Given the description of an element on the screen output the (x, y) to click on. 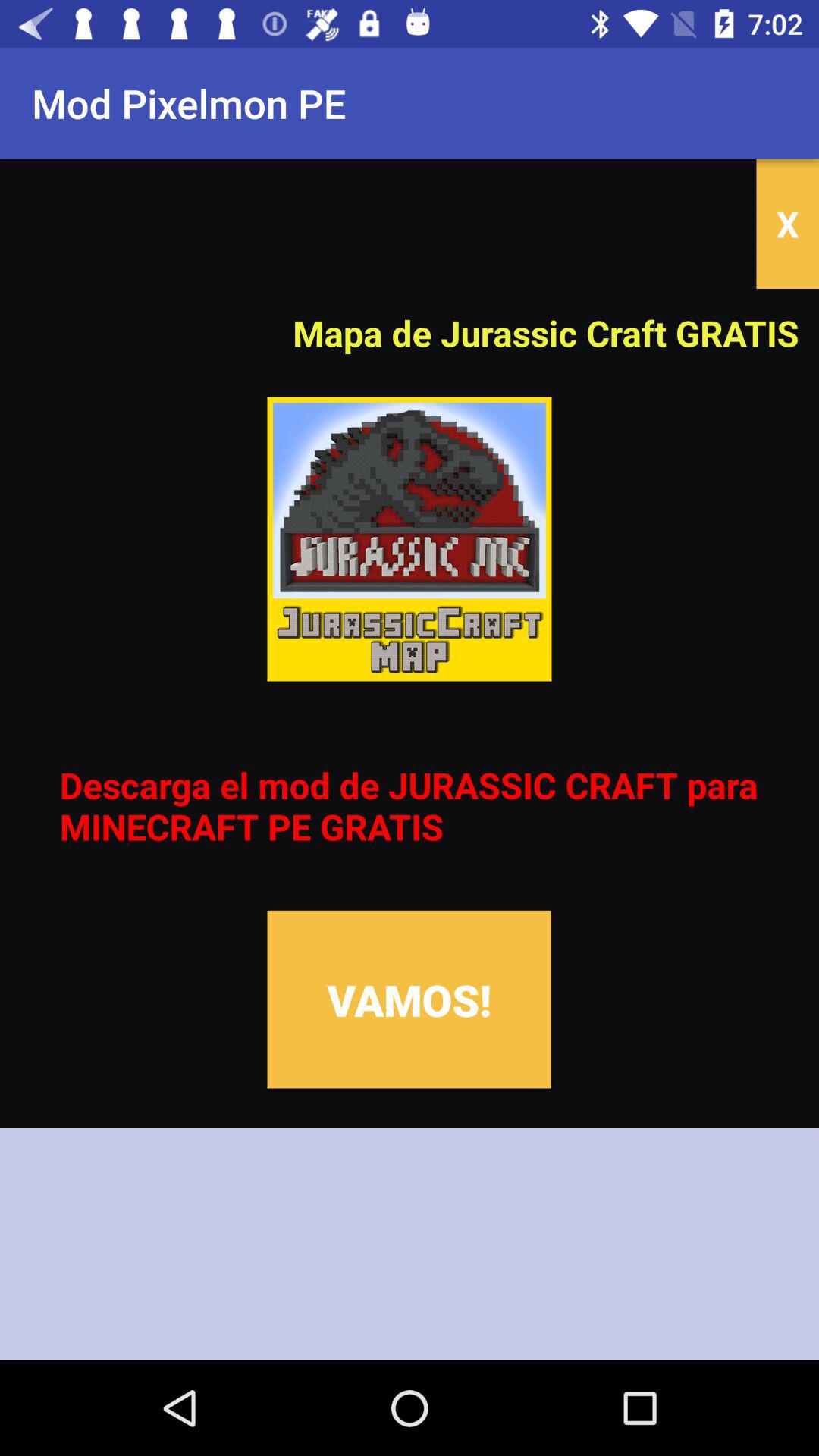
swipe to the x icon (787, 223)
